Given the description of an element on the screen output the (x, y) to click on. 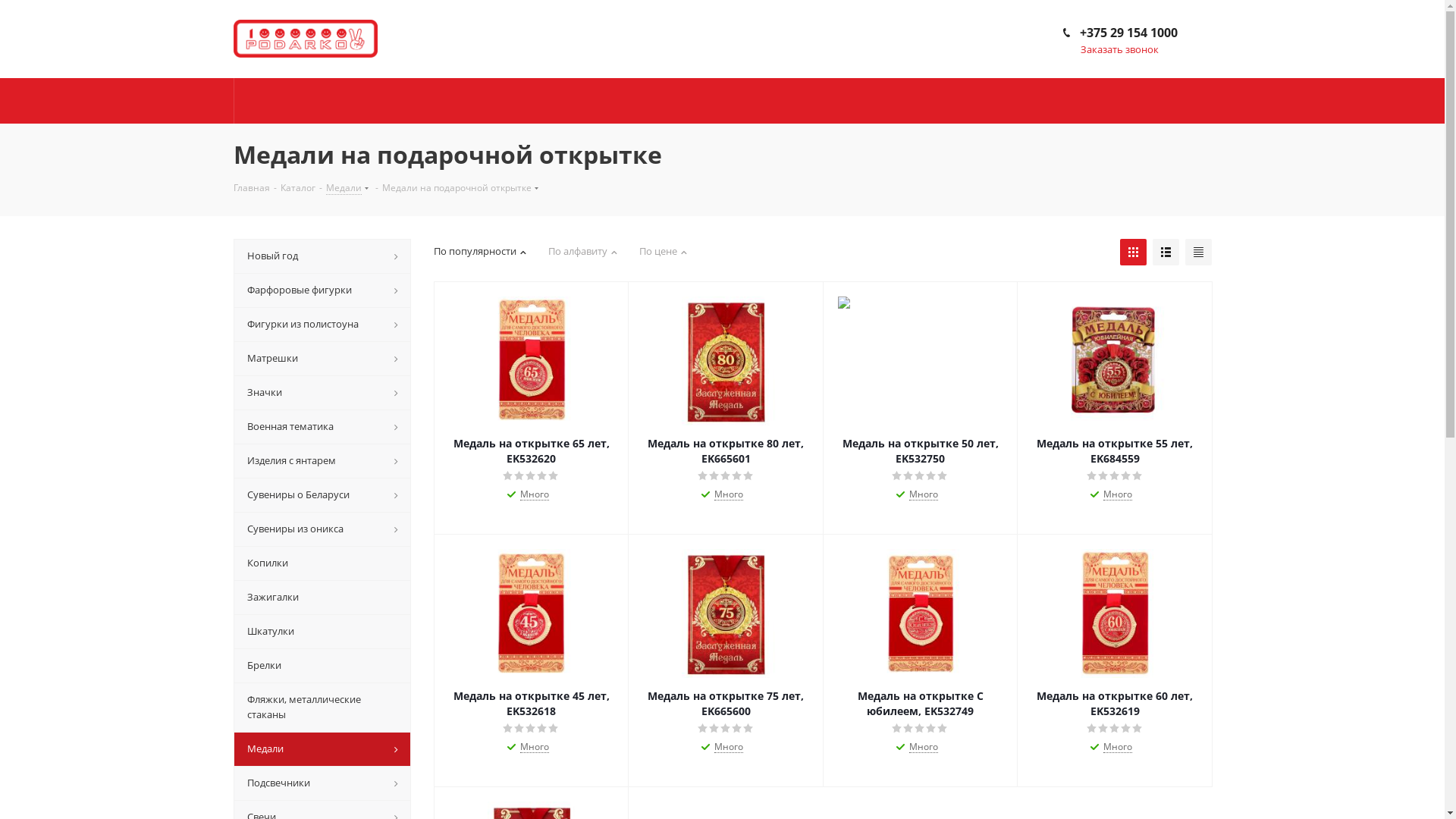
3 Element type: hover (530, 475)
1 Element type: hover (703, 728)
5 Element type: hover (1137, 728)
1 Element type: hover (1092, 728)
2 Element type: hover (714, 475)
2 Element type: hover (519, 728)
3 Element type: hover (530, 728)
3 Element type: hover (725, 728)
2 Element type: hover (1103, 475)
3 Element type: hover (919, 728)
5 Element type: hover (748, 728)
5 Element type: hover (1137, 475)
2 Element type: hover (519, 475)
4 Element type: hover (931, 728)
5 Element type: hover (942, 728)
+375 29 154 1000 Element type: text (1128, 32)
1 Element type: hover (897, 475)
1 Element type: hover (508, 728)
2 Element type: hover (1103, 728)
1 Element type: hover (508, 475)
5 Element type: hover (942, 475)
2 Element type: hover (714, 728)
2 Element type: hover (908, 728)
4 Element type: hover (737, 728)
4 Element type: hover (542, 475)
5 Element type: hover (553, 728)
5 Element type: hover (748, 475)
4 Element type: hover (1126, 475)
1 Element type: hover (703, 475)
5 Element type: hover (553, 475)
1 Element type: hover (897, 728)
4 Element type: hover (542, 728)
3 Element type: hover (1114, 728)
1 Element type: hover (1092, 475)
4 Element type: hover (931, 475)
2 Element type: hover (908, 475)
3 Element type: hover (1114, 475)
4 Element type: hover (1126, 728)
3 Element type: hover (919, 475)
4 Element type: hover (737, 475)
3 Element type: hover (725, 475)
